Given the description of an element on the screen output the (x, y) to click on. 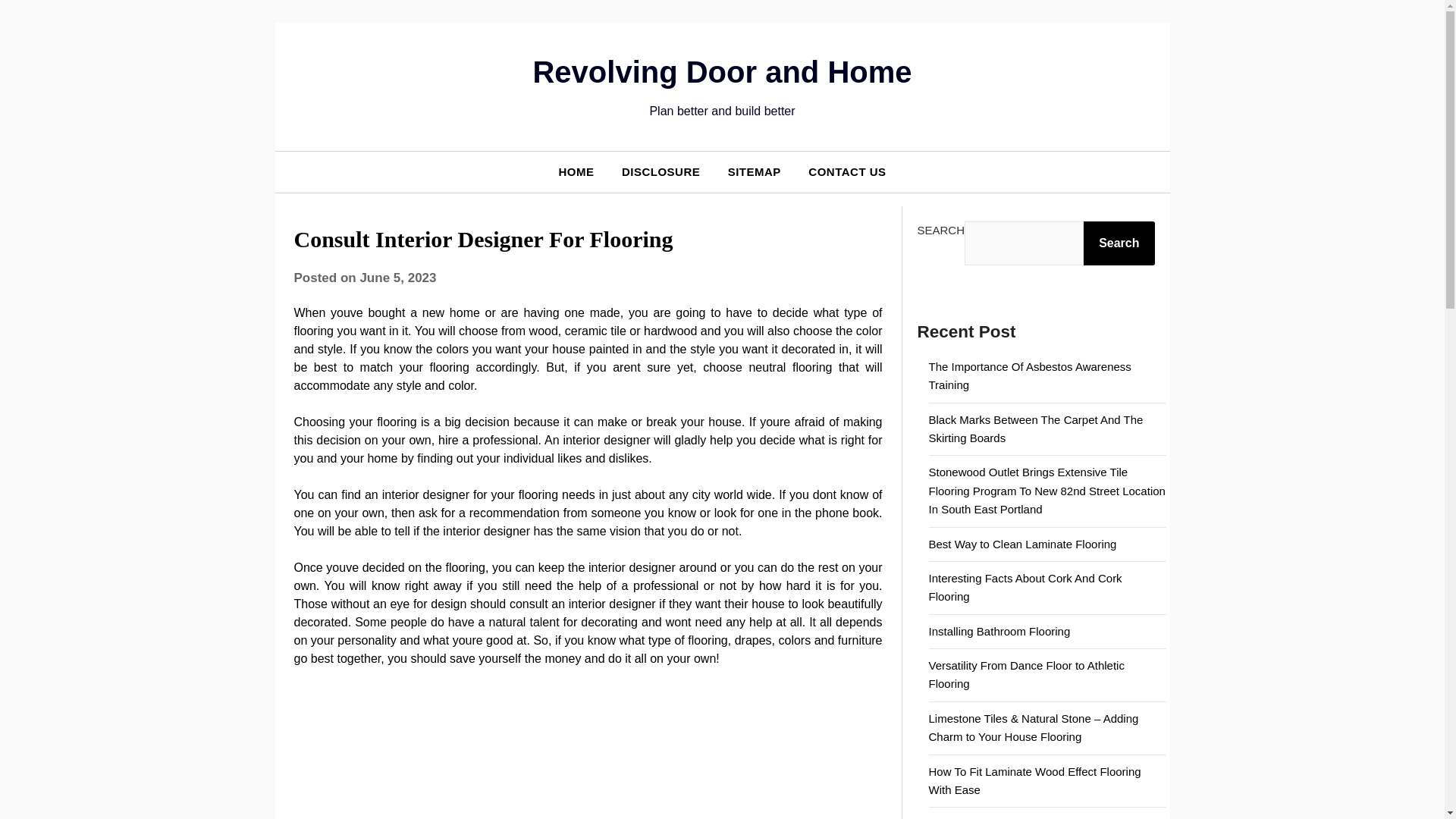
Best Way to Clean Laminate Flooring (1022, 543)
Interesting Facts About Cork And Cork Flooring (1024, 586)
Revolving Door and Home (721, 71)
Luxury Carpet (963, 818)
Search (1118, 243)
DISCLOSURE (660, 171)
SITEMAP (754, 171)
HOME (575, 171)
June 5, 2023 (397, 278)
The Importance Of Asbestos Awareness Training (1029, 375)
Installing Bathroom Flooring (999, 631)
Versatility From Dance Floor to Athletic Flooring (1026, 674)
How To Fit Laminate Wood Effect Flooring With Ease (1034, 780)
CONTACT US (847, 171)
